Given the description of an element on the screen output the (x, y) to click on. 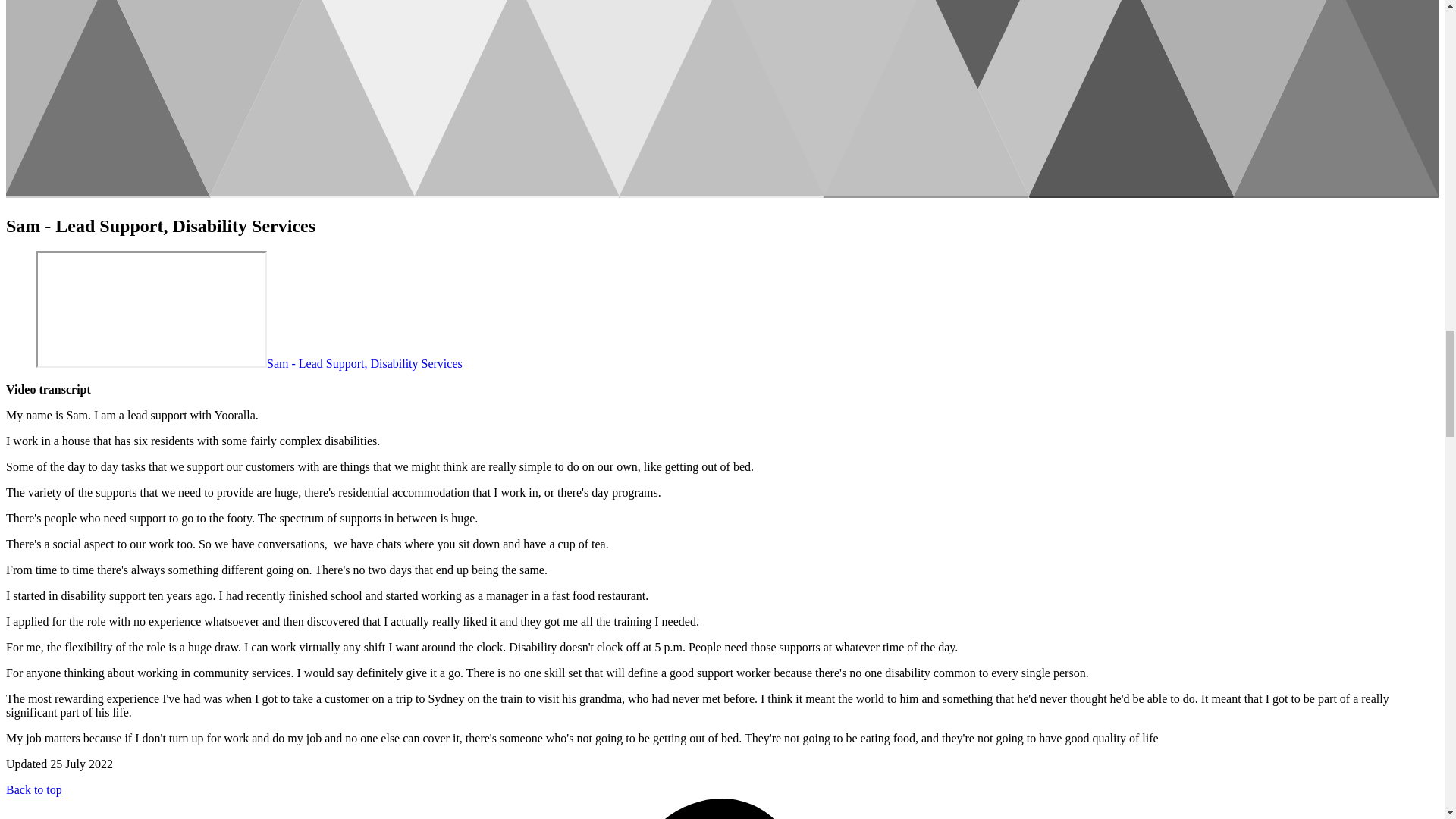
Sam - Lead Support, Disability Services (364, 363)
Sam - Lead Support, Disability Services (151, 308)
